Given the description of an element on the screen output the (x, y) to click on. 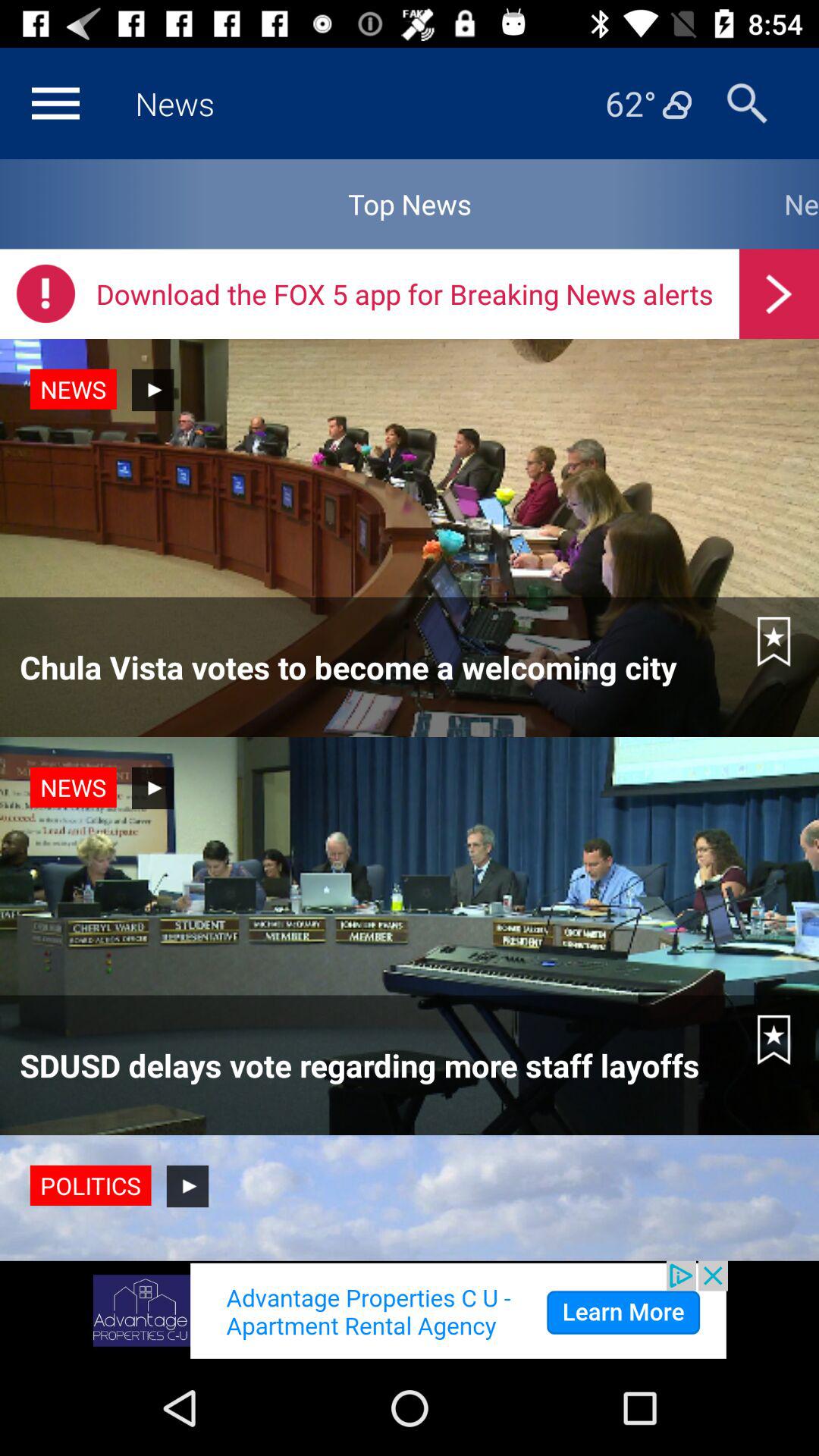
know about the advertisement (409, 1310)
